Given the description of an element on the screen output the (x, y) to click on. 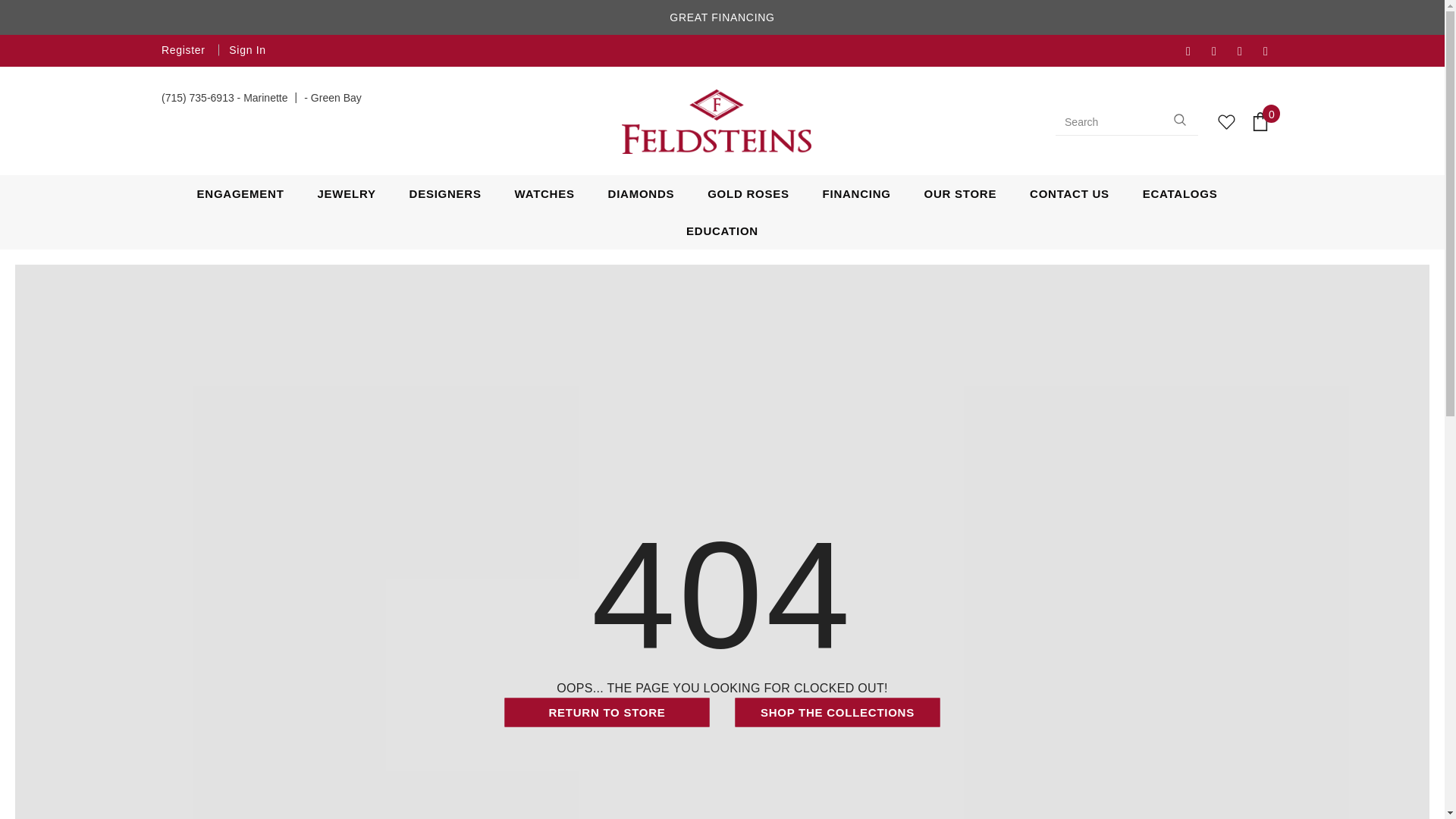
Sign In (242, 50)
Register (184, 50)
Instagram (1246, 51)
Pinterest (1272, 51)
GREAT FINANCING (721, 17)
Twitter (1220, 51)
Facebook (1195, 51)
